Given the description of an element on the screen output the (x, y) to click on. 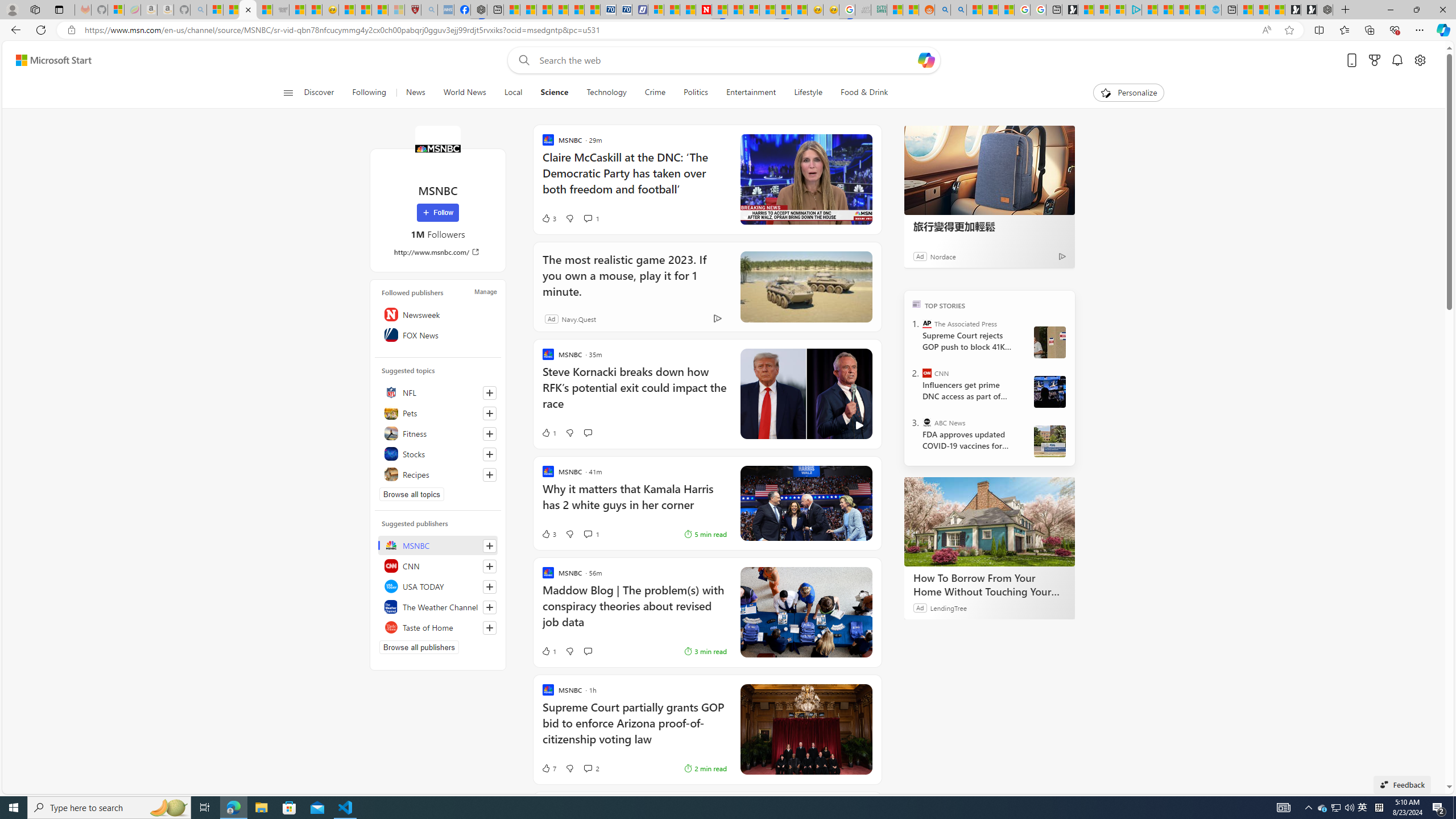
Microsoft Start Gaming (1070, 9)
Politics (695, 92)
Trusted Community Engagement and Contributions | Guidelines (719, 9)
FOX News (437, 334)
Science - MSN (379, 9)
Taste of Home (437, 627)
Entertainment (750, 92)
